Given the description of an element on the screen output the (x, y) to click on. 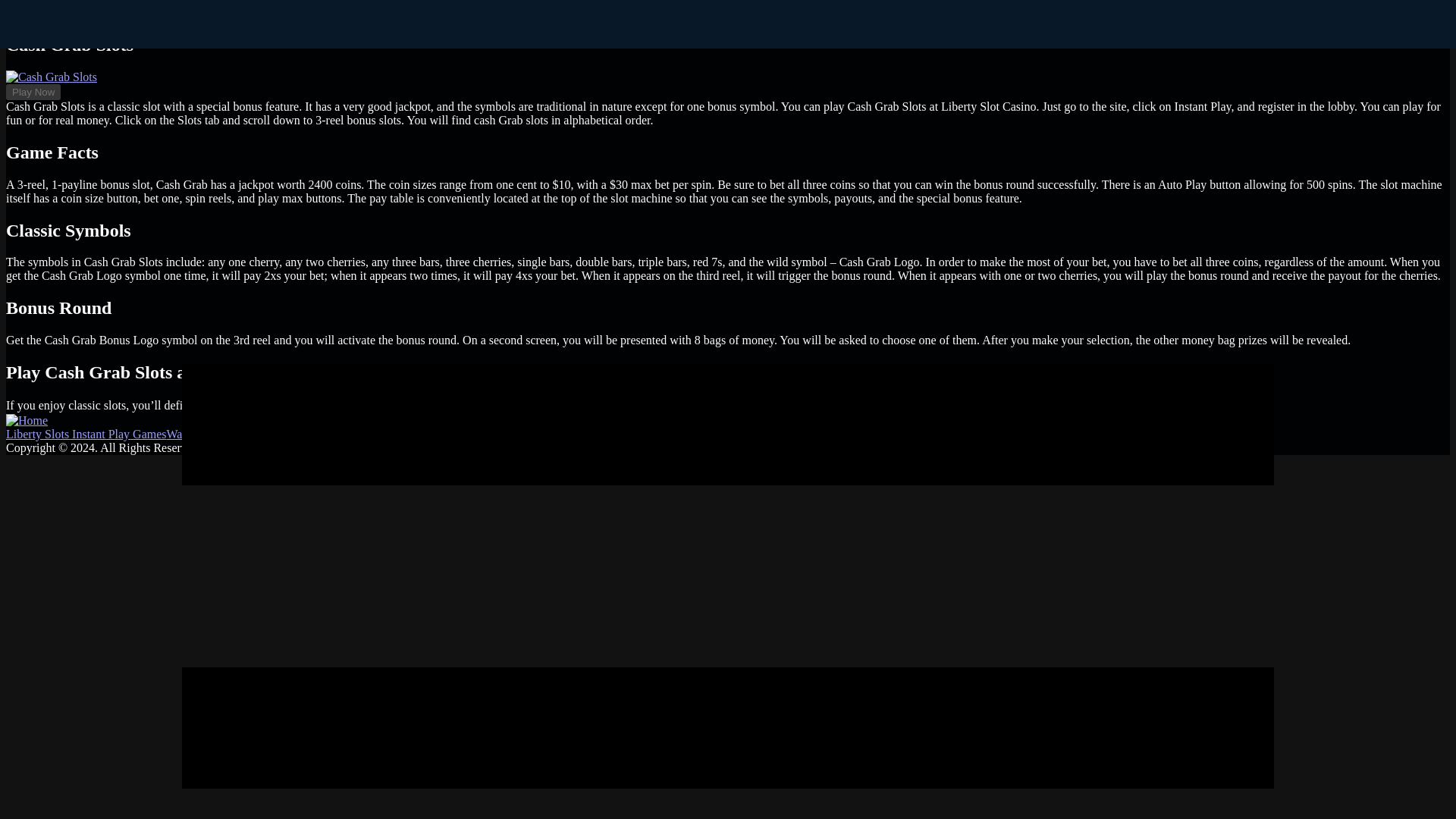
Mobile Casino (335, 433)
Play Now (1160, 406)
Play Now (33, 91)
Liberty Slots Instant Play Games (86, 433)
Wager Gaming Technology (233, 433)
